Given the description of an element on the screen output the (x, y) to click on. 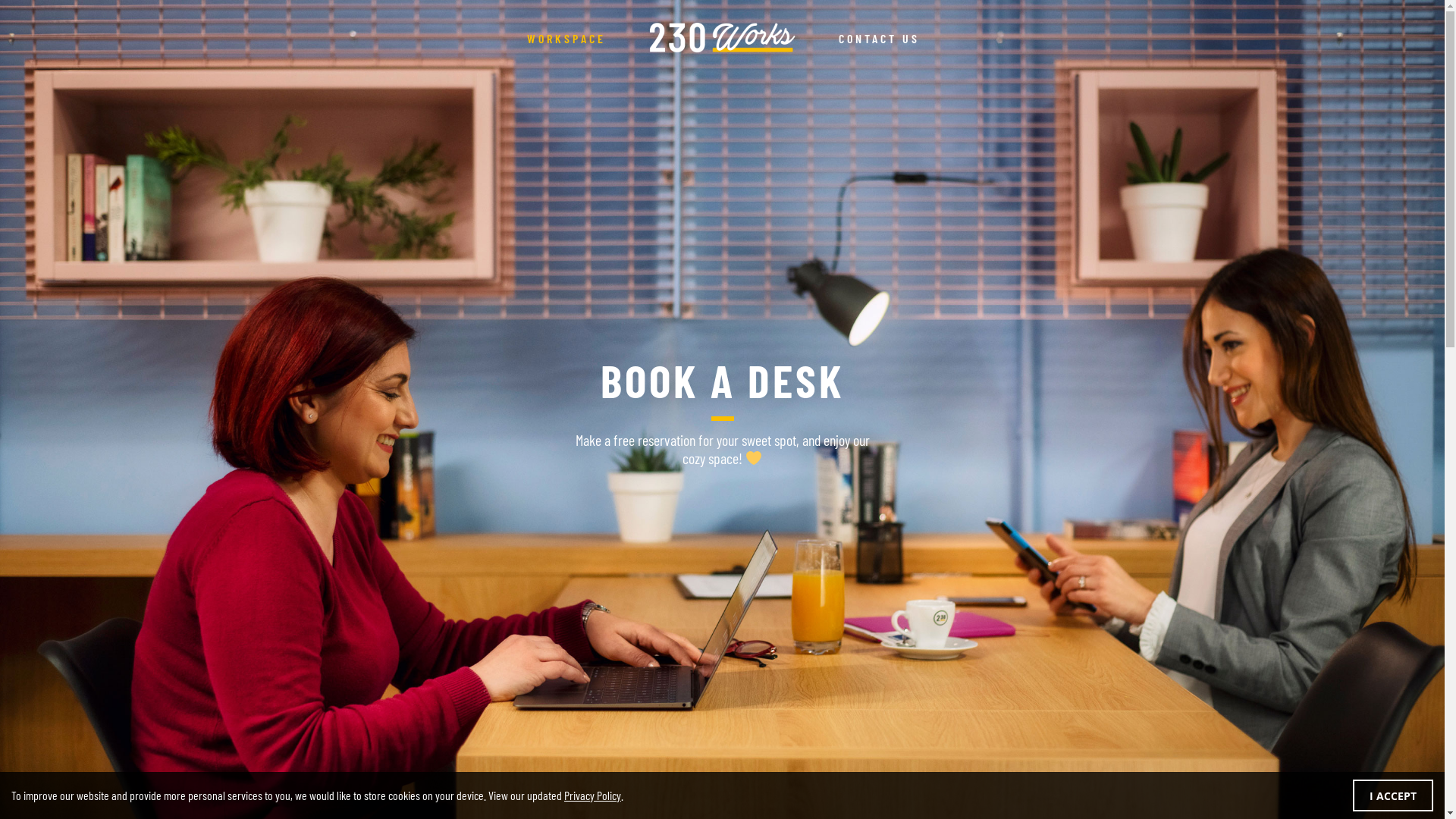
WORKSPACE Element type: text (566, 38)
CONTACT US Element type: text (878, 38)
Privacy Policy Element type: text (592, 794)
I ACCEPT Element type: text (1392, 795)
